Given the description of an element on the screen output the (x, y) to click on. 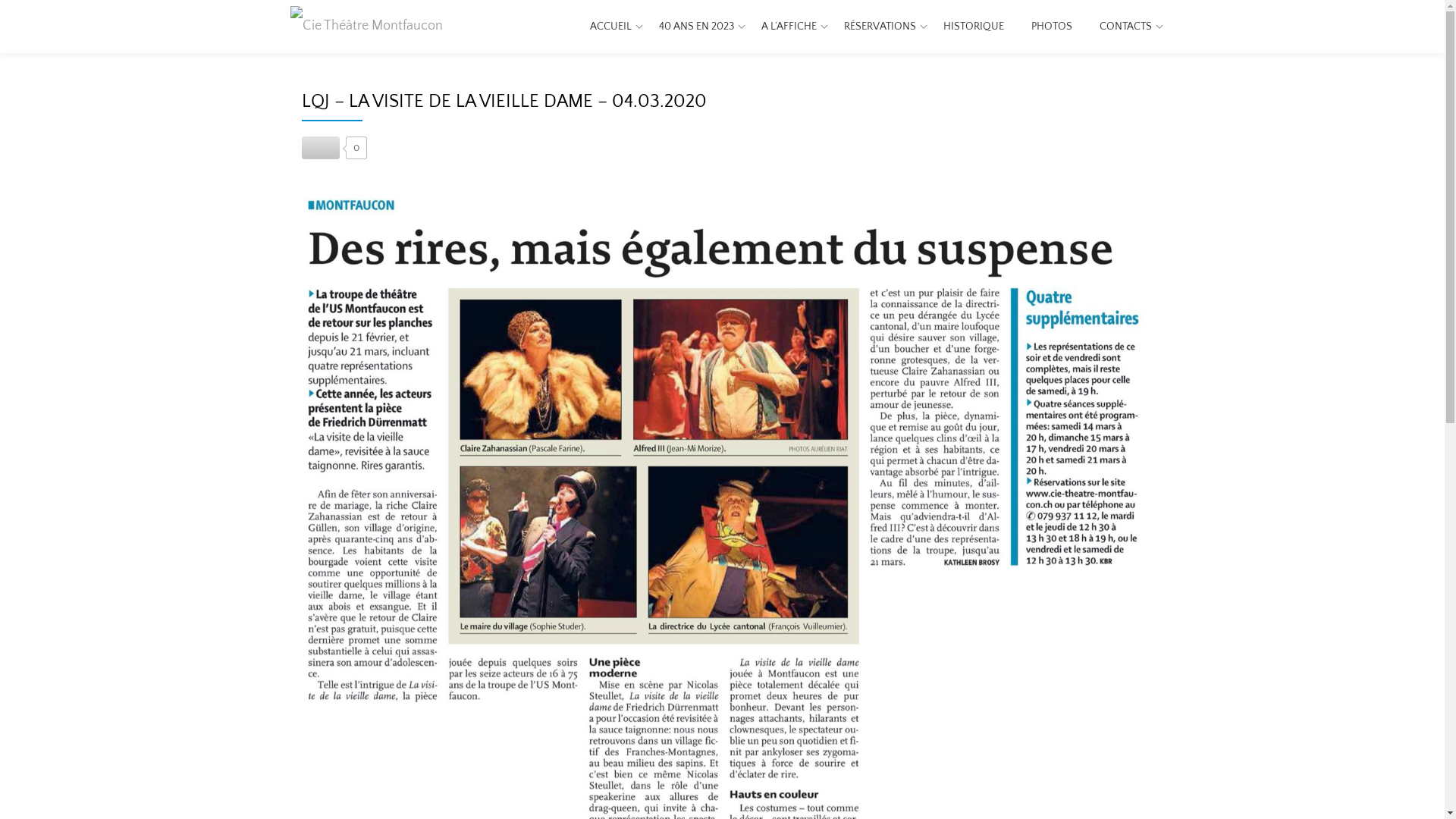
CONTACTS Element type: text (1125, 26)
ACCUEIL Element type: text (610, 26)
HISTORIQUE Element type: text (973, 26)
PHOTOS Element type: text (1051, 26)
40 ANS EN 2023 Element type: text (695, 26)
